Given the description of an element on the screen output the (x, y) to click on. 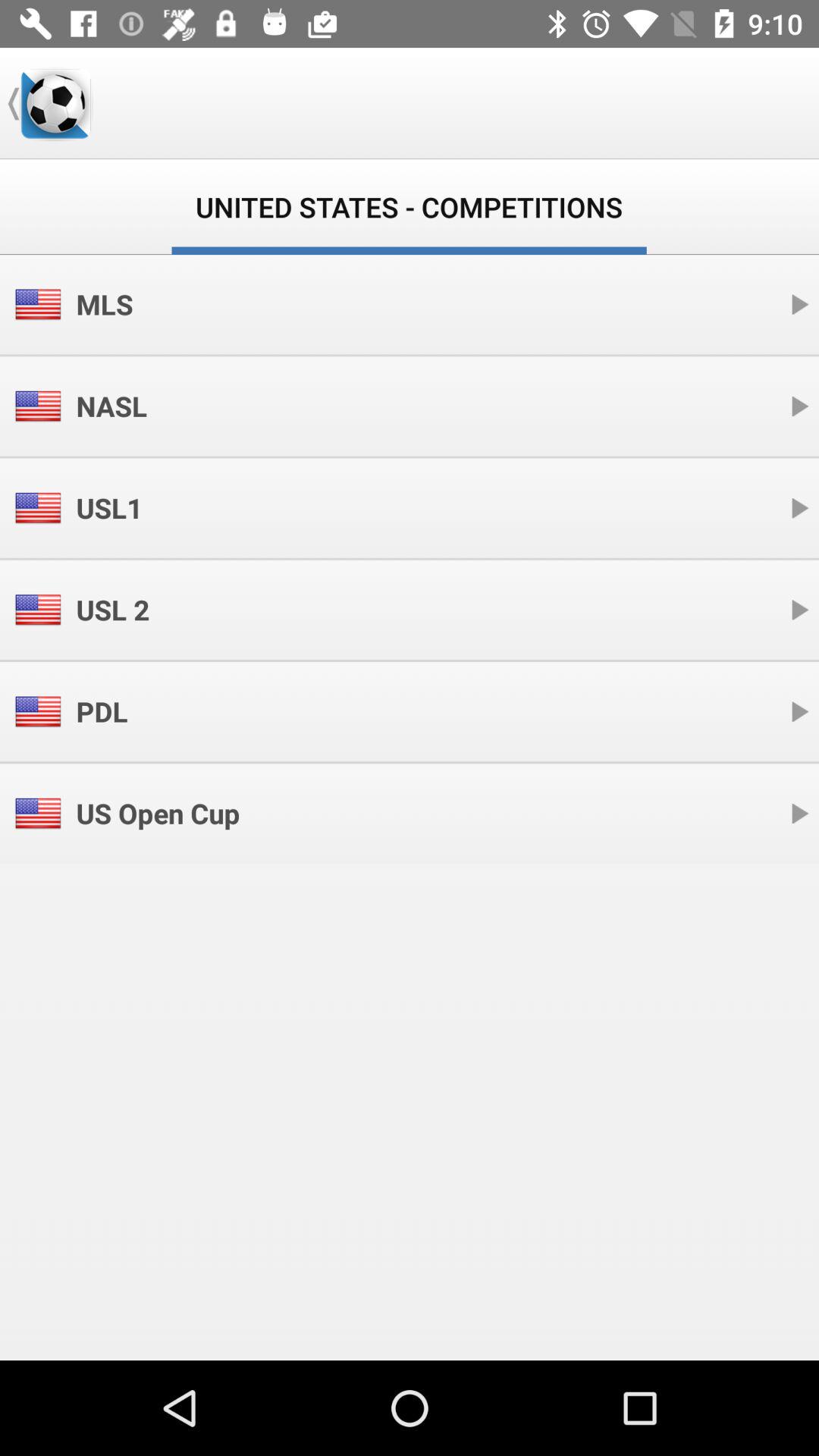
flip to the us open cup icon (158, 813)
